Given the description of an element on the screen output the (x, y) to click on. 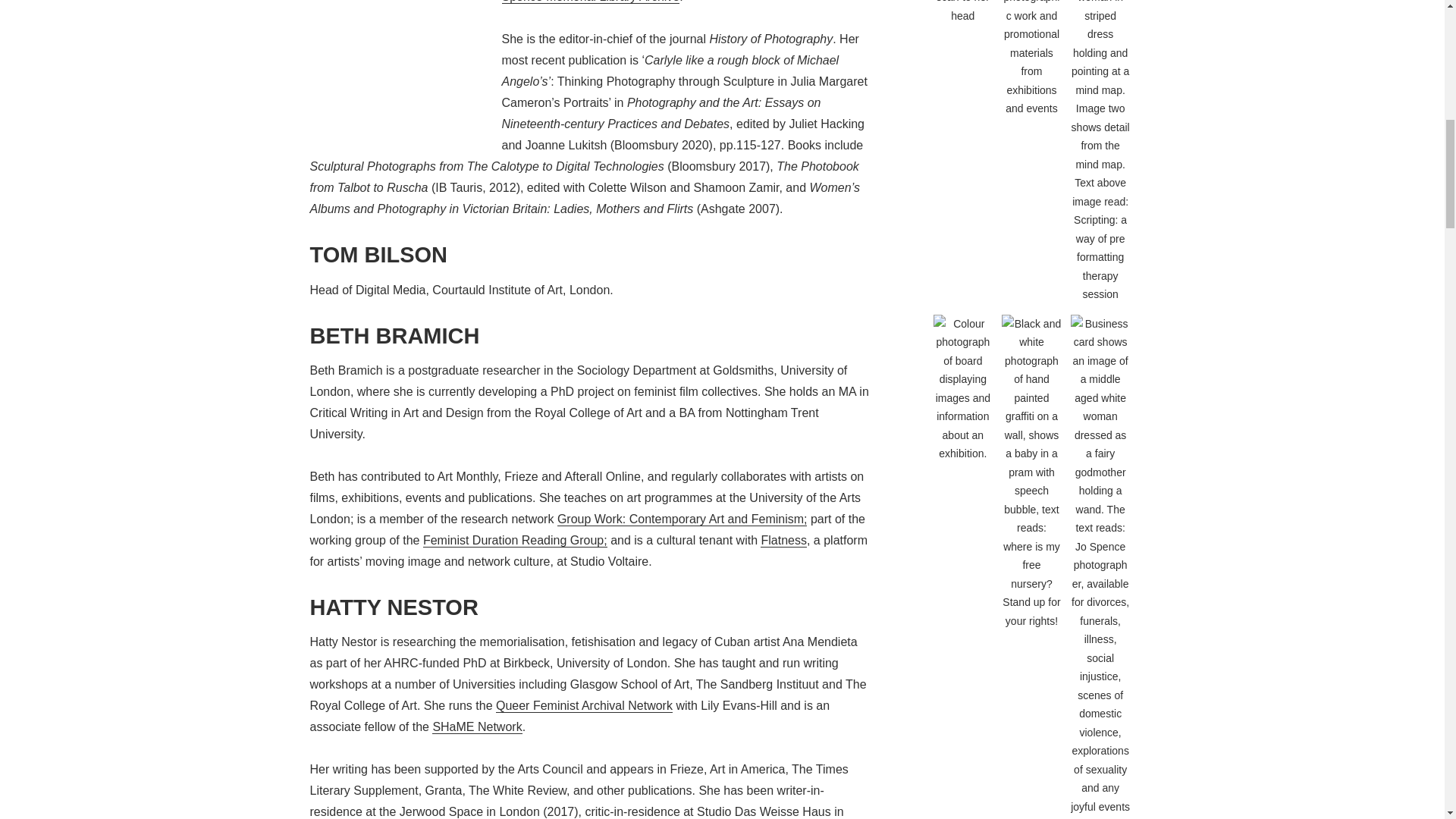
Jo Spence Memorial Library Archive (664, 2)
Group Work: Contemporary Art and Feminism; (682, 519)
Flatness (783, 540)
Feminist Duration Reading Group; (515, 540)
SHaME Network (476, 726)
Queer Feminist Archival Network (584, 705)
